Given the description of an element on the screen output the (x, y) to click on. 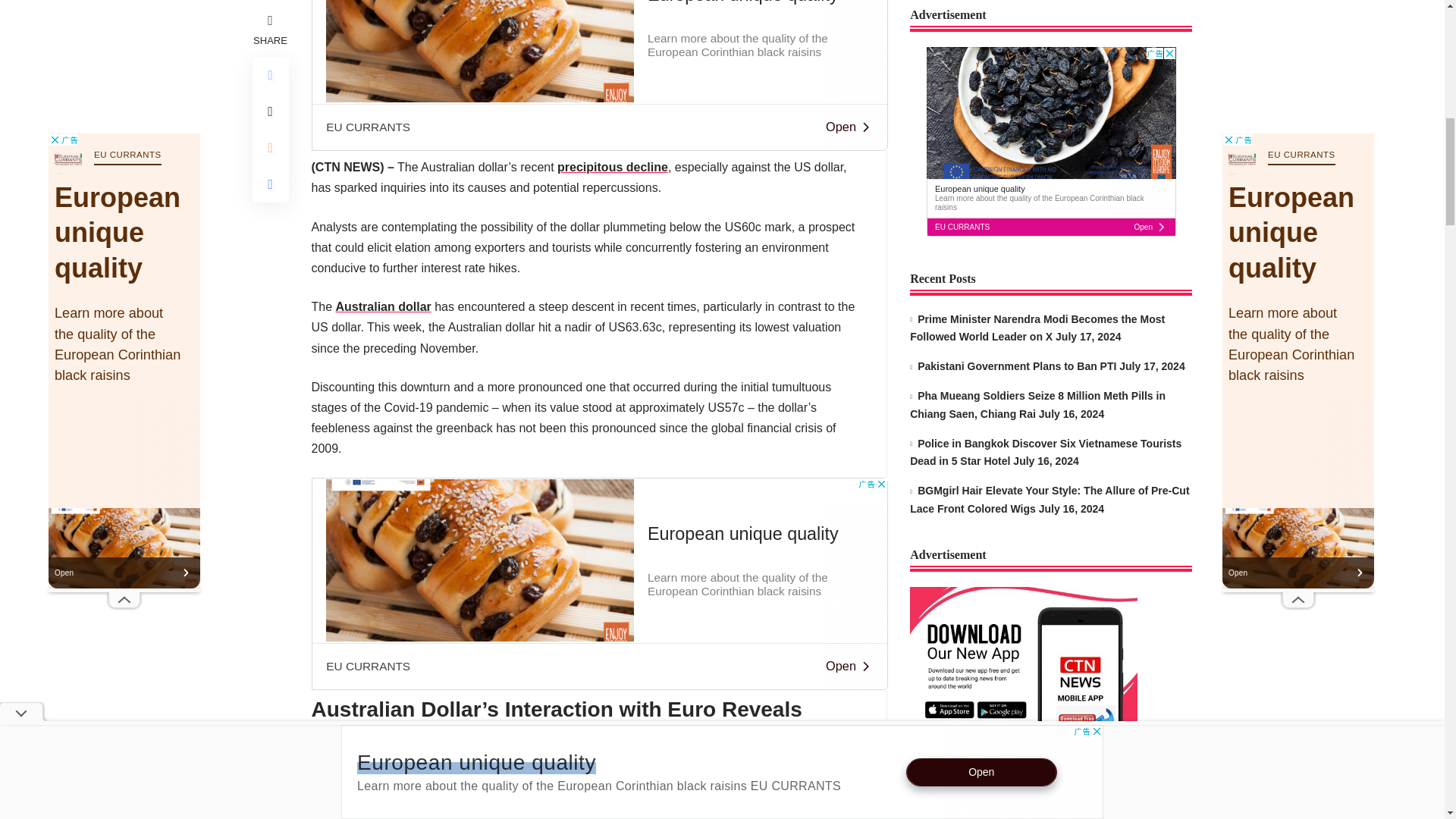
Advertisement (598, 75)
Advertisement (598, 583)
